Given the description of an element on the screen output the (x, y) to click on. 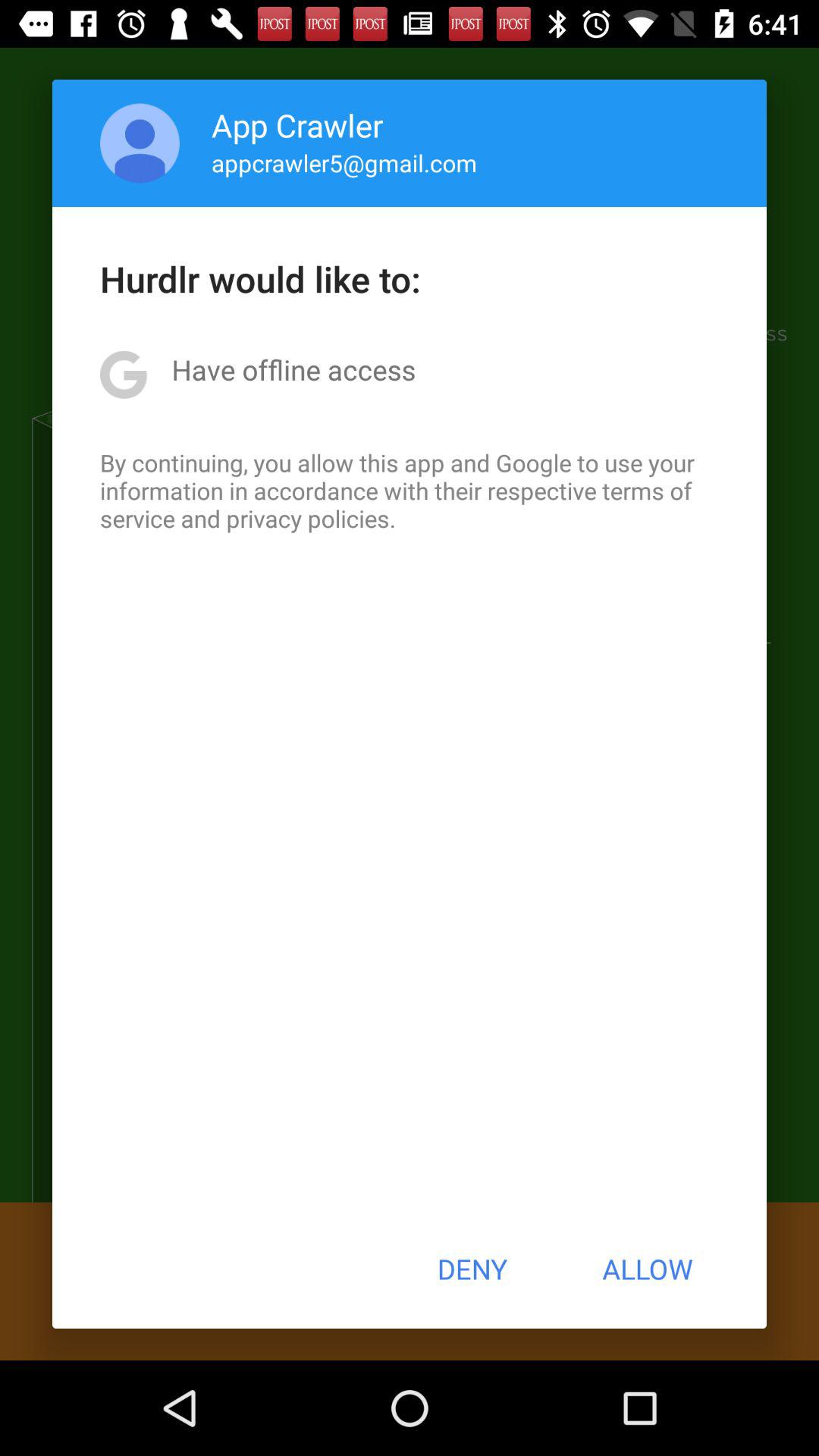
turn on deny (471, 1268)
